Given the description of an element on the screen output the (x, y) to click on. 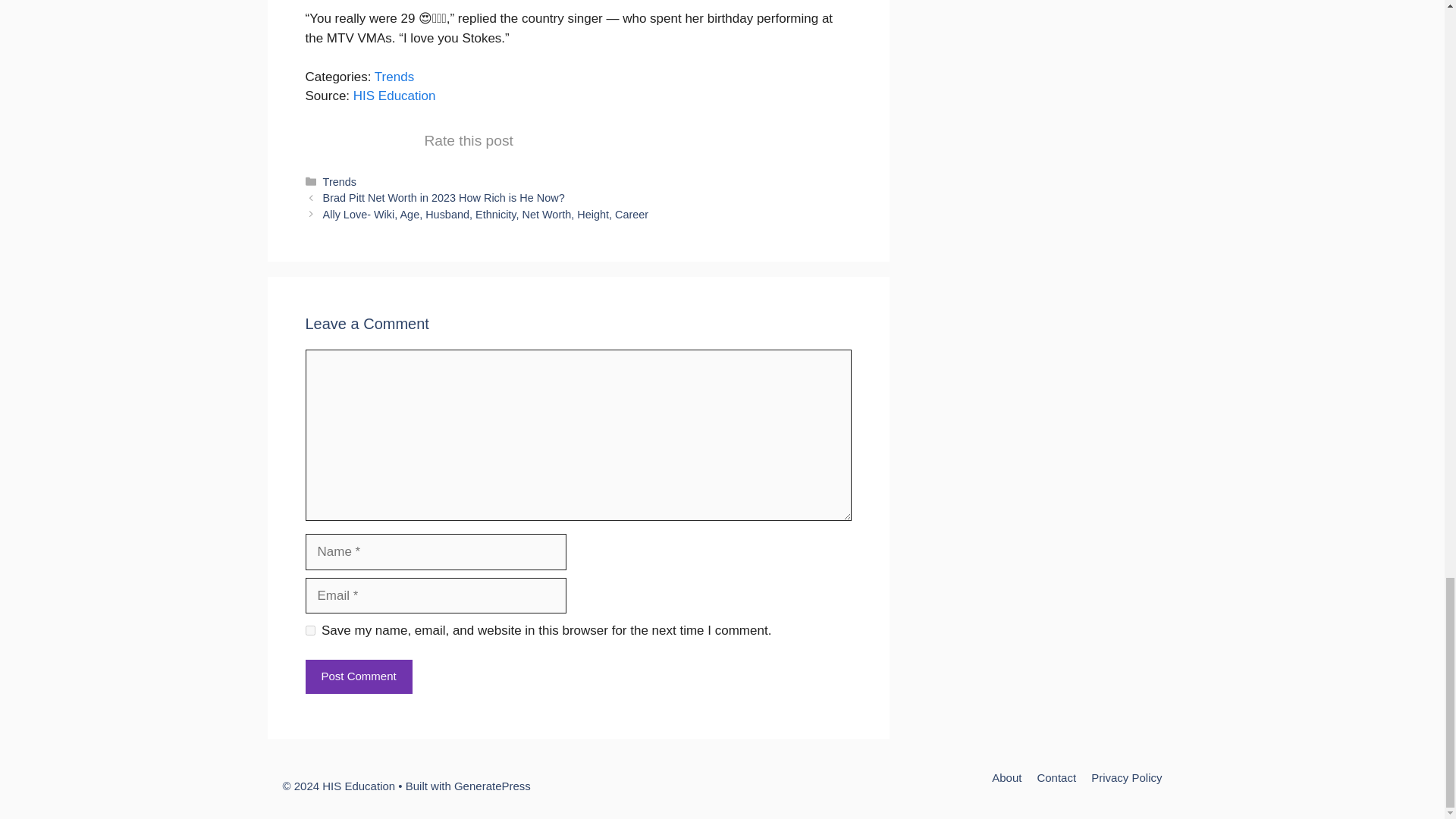
Trends (393, 76)
HIS Education (394, 95)
Contact (1055, 777)
Brad Pitt Net Worth in 2023 How Rich is He Now? (443, 197)
yes (309, 630)
Post Comment (358, 676)
GeneratePress (492, 785)
Post Comment (358, 676)
Privacy Policy (1125, 777)
Trends (339, 182)
About (1006, 777)
